Given the description of an element on the screen output the (x, y) to click on. 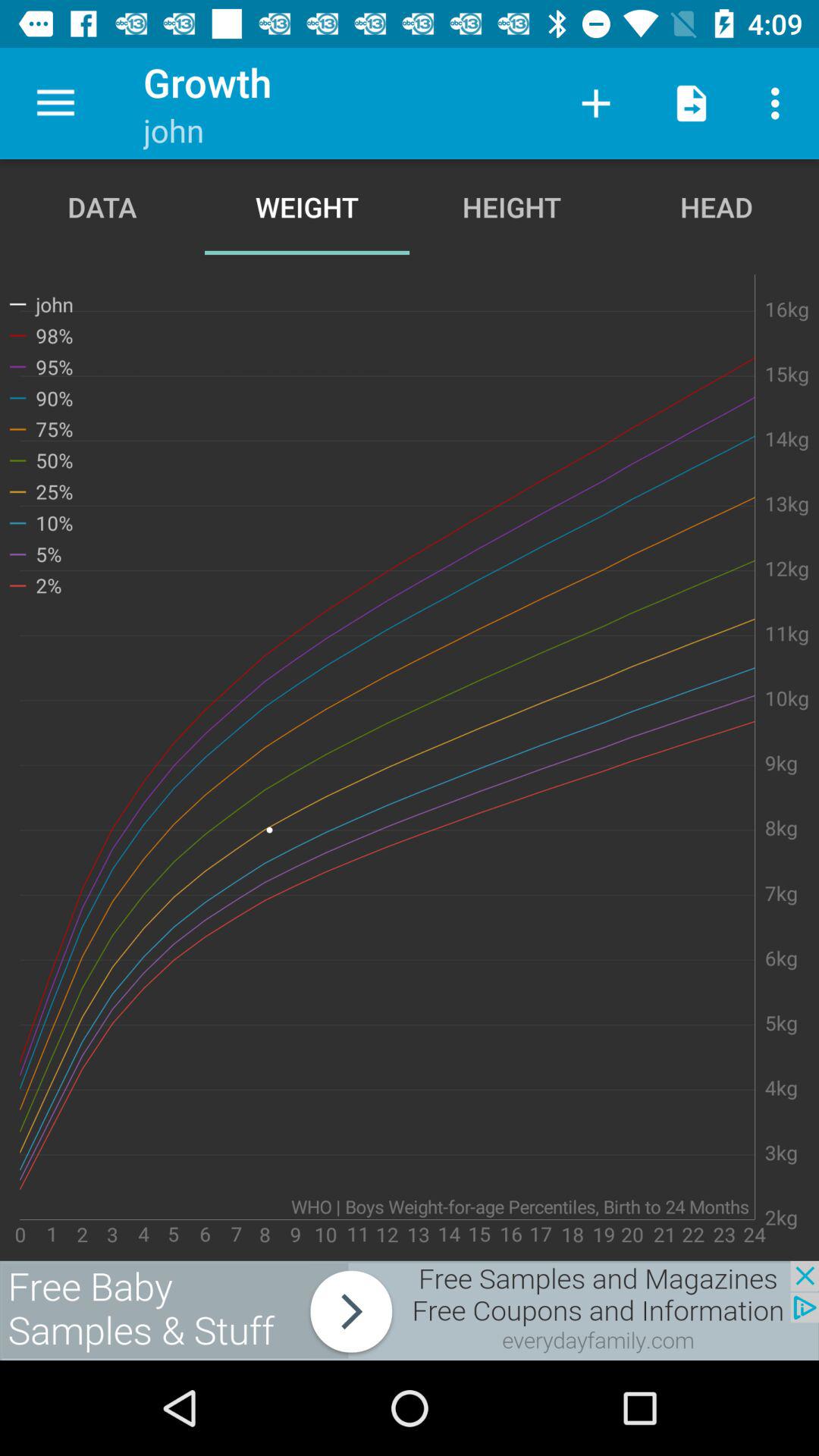
advertisement (409, 1310)
